Given the description of an element on the screen output the (x, y) to click on. 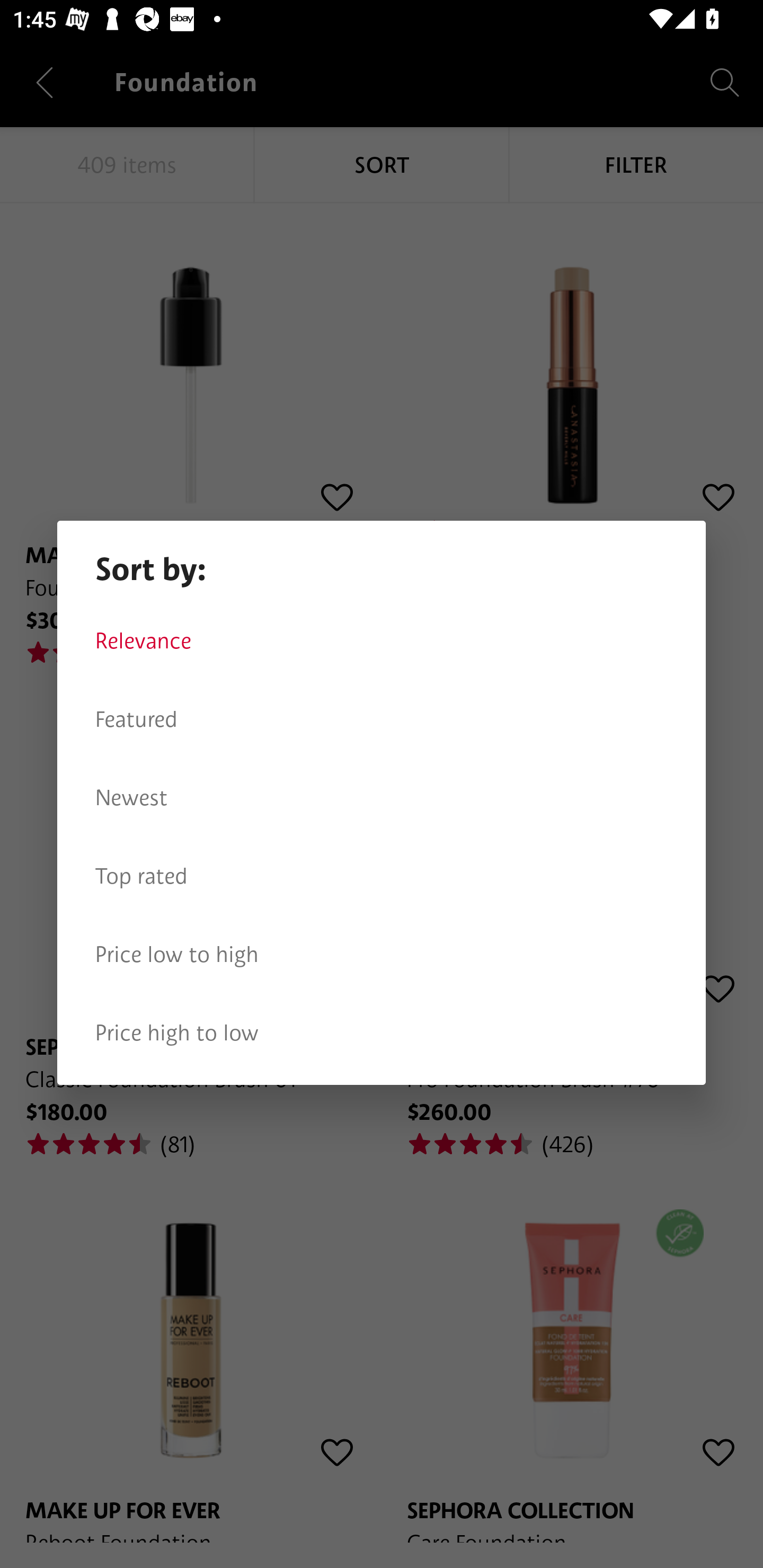
Relevance (381, 641)
Featured (381, 719)
Newest (381, 797)
Top rated (381, 876)
Price low to high (381, 954)
Price high to low (381, 1033)
